Given the description of an element on the screen output the (x, y) to click on. 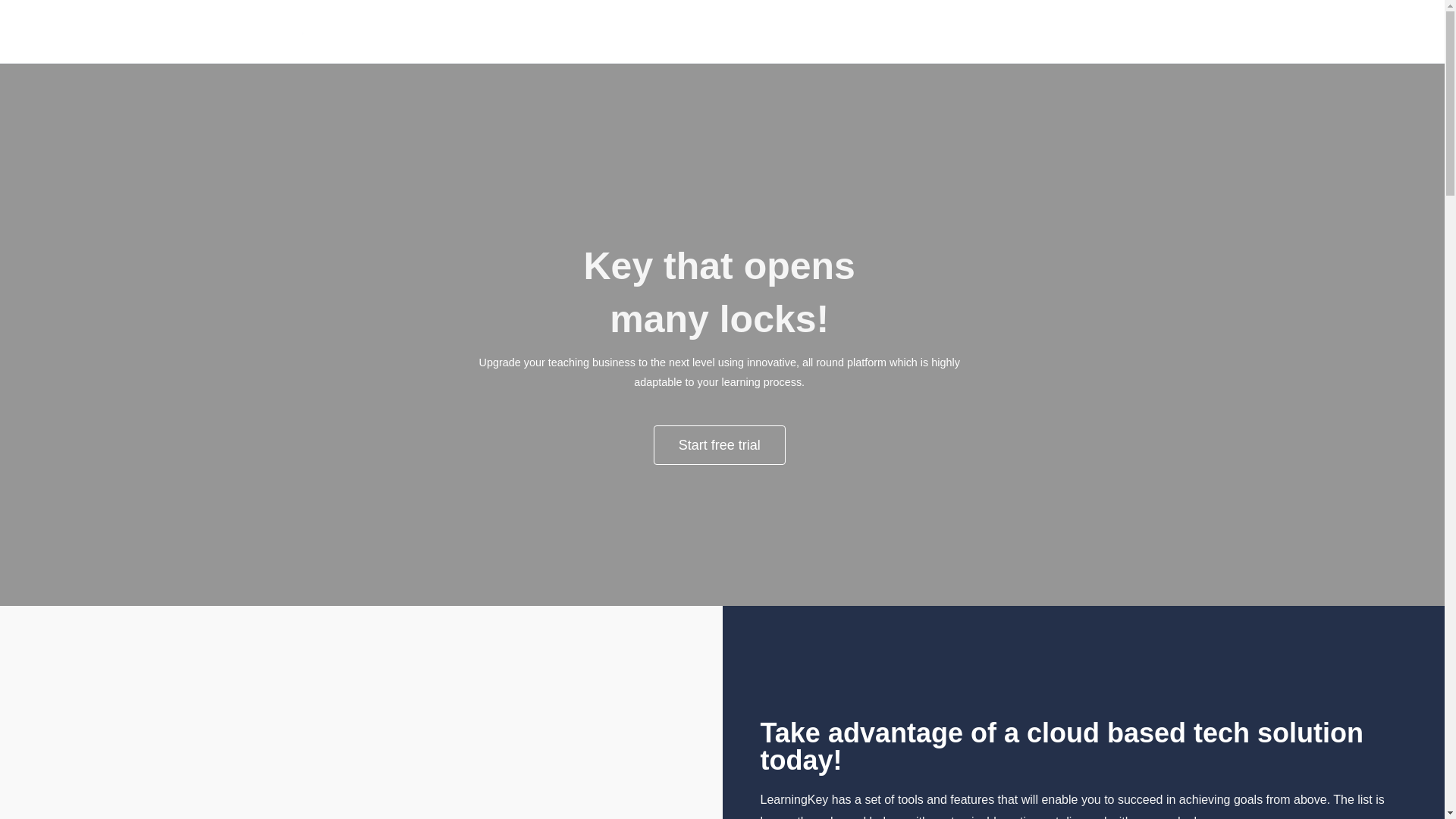
Home (1147, 31)
Start free trial (719, 445)
LearningKey (533, 41)
